Given the description of an element on the screen output the (x, y) to click on. 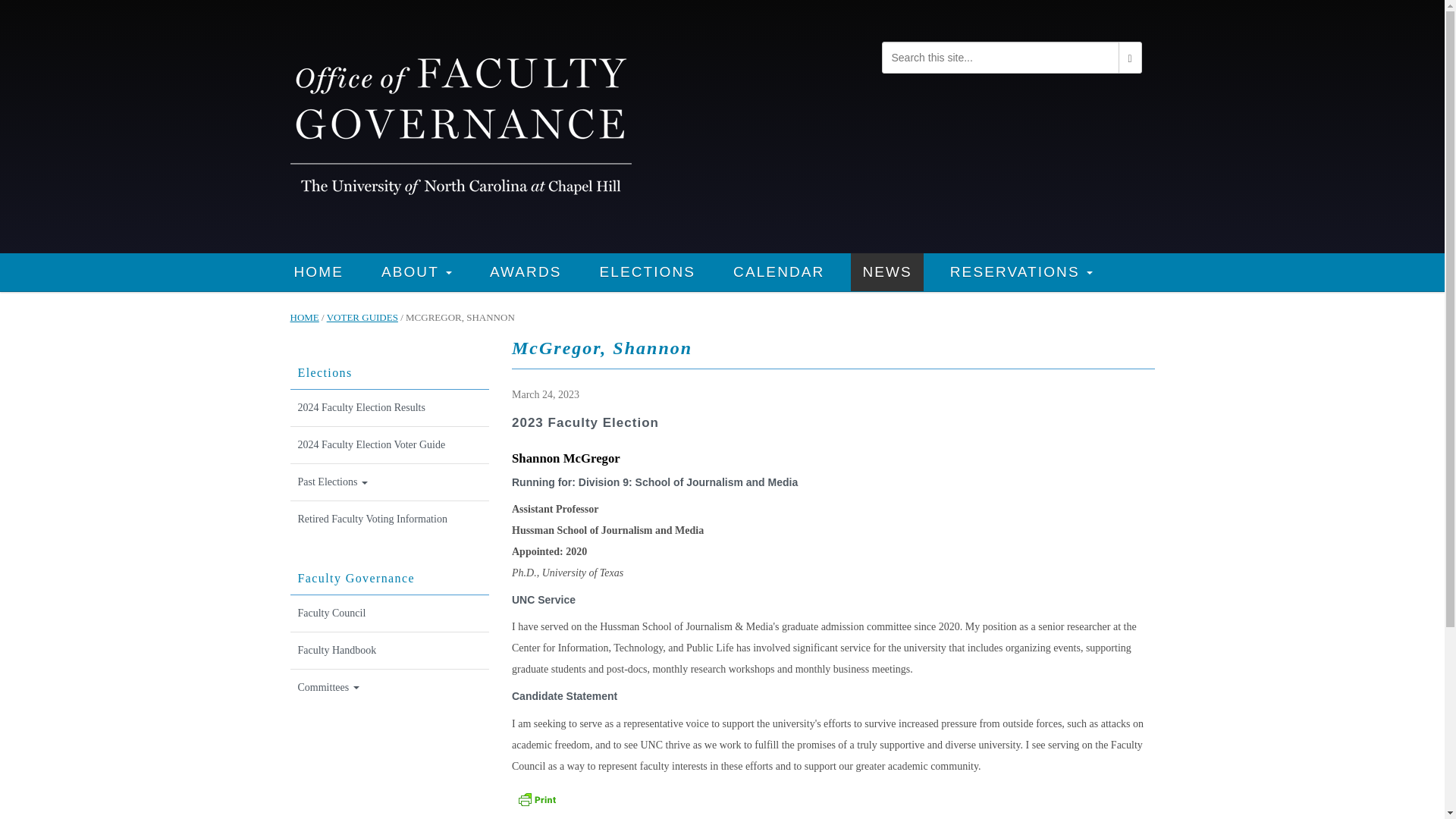
ELECTIONS (647, 272)
Faculty Governance (459, 124)
ABOUT (416, 272)
HOME (317, 272)
2024 Faculty Election Results (389, 407)
RESERVATIONS (1021, 272)
VOTER GUIDES (361, 336)
2024 Faculty Election Voter Guide (389, 445)
CALENDAR (778, 272)
Past Elections (389, 482)
